Given the description of an element on the screen output the (x, y) to click on. 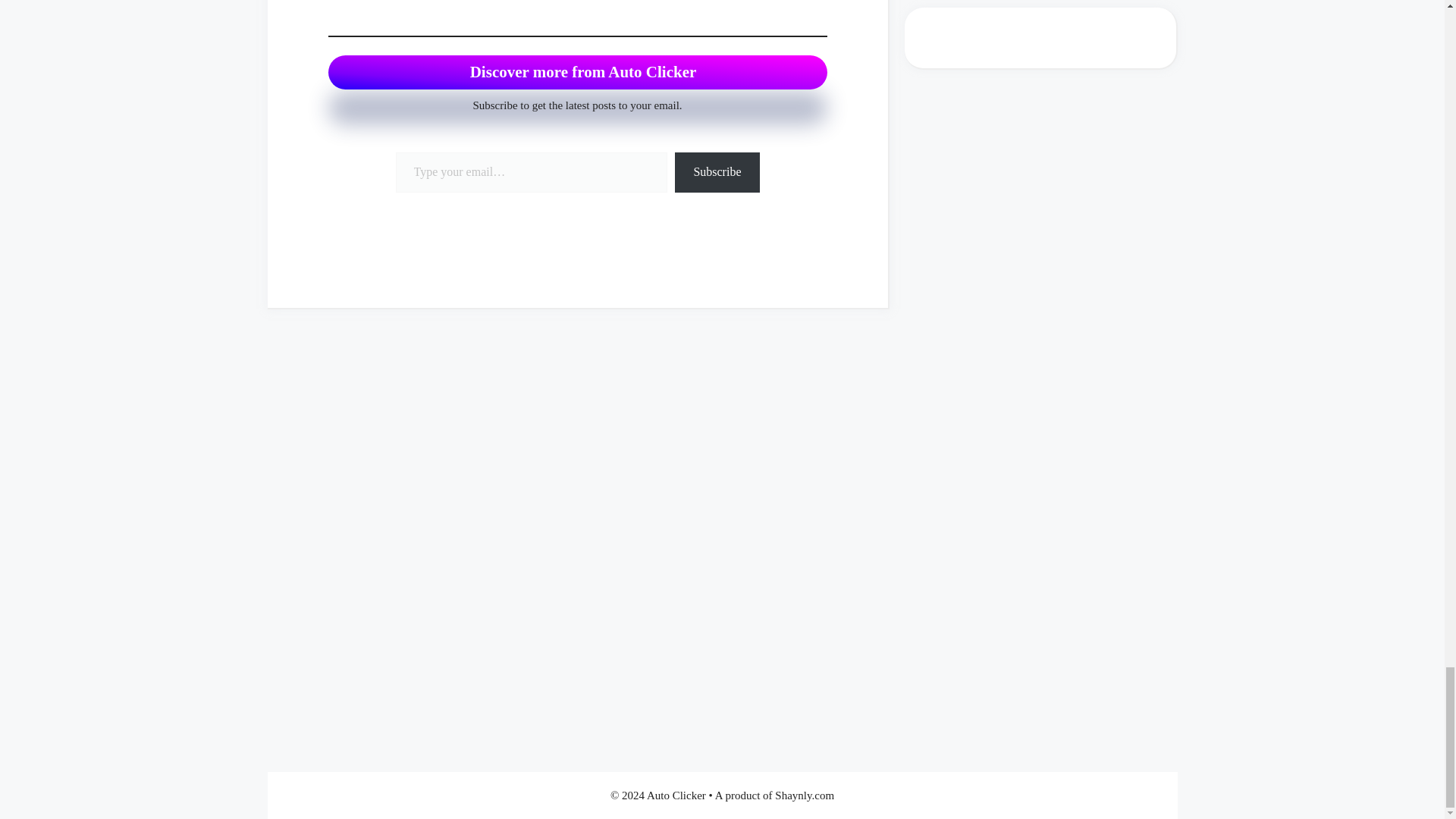
Subscribe (716, 172)
